Given the description of an element on the screen output the (x, y) to click on. 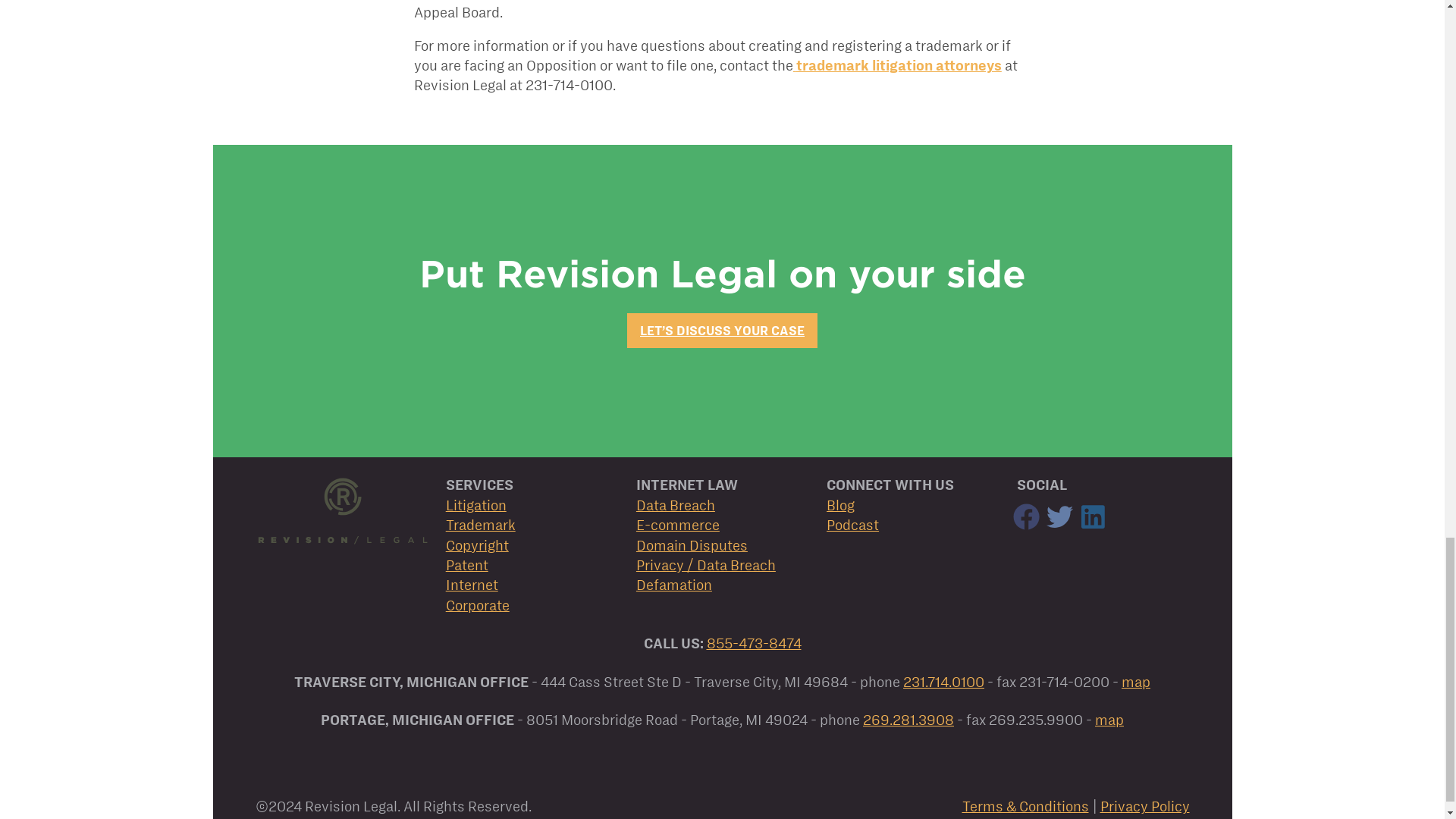
855-473-8474 (754, 643)
Copyright (476, 545)
Domain Disputes (692, 545)
Corporate (477, 605)
Defamation (673, 584)
Data Breach (675, 505)
trademark litigation attorneys (898, 65)
Litigation (475, 505)
E-commerce (677, 524)
Podcast (853, 524)
Internet (471, 584)
231.714.0100 (943, 682)
Trademark (480, 524)
Blog (840, 505)
Patent (466, 565)
